Given the description of an element on the screen output the (x, y) to click on. 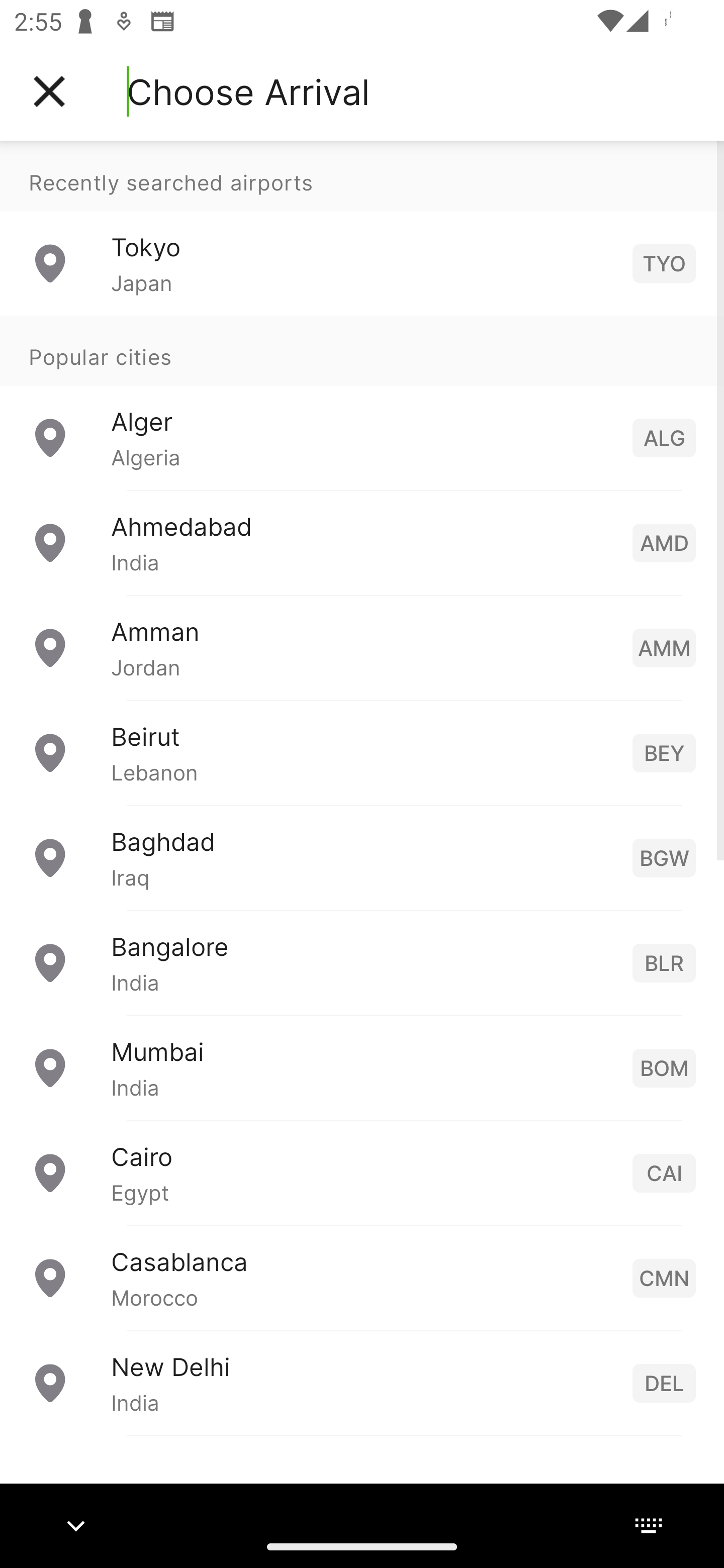
Choose Arrival (247, 91)
Recently searched airports Tokyo Japan TYO (362, 228)
Recently searched airports (362, 176)
Popular cities Alger Algeria ALG (362, 402)
Popular cities (362, 350)
Ahmedabad India AMD (362, 541)
Amman Jordan AMM (362, 646)
Beirut Lebanon BEY (362, 751)
Baghdad Iraq BGW (362, 856)
Bangalore India BLR (362, 961)
Mumbai India BOM (362, 1066)
Cairo Egypt CAI (362, 1171)
Casablanca Morocco CMN (362, 1276)
New Delhi India DEL (362, 1381)
